Given the description of an element on the screen output the (x, y) to click on. 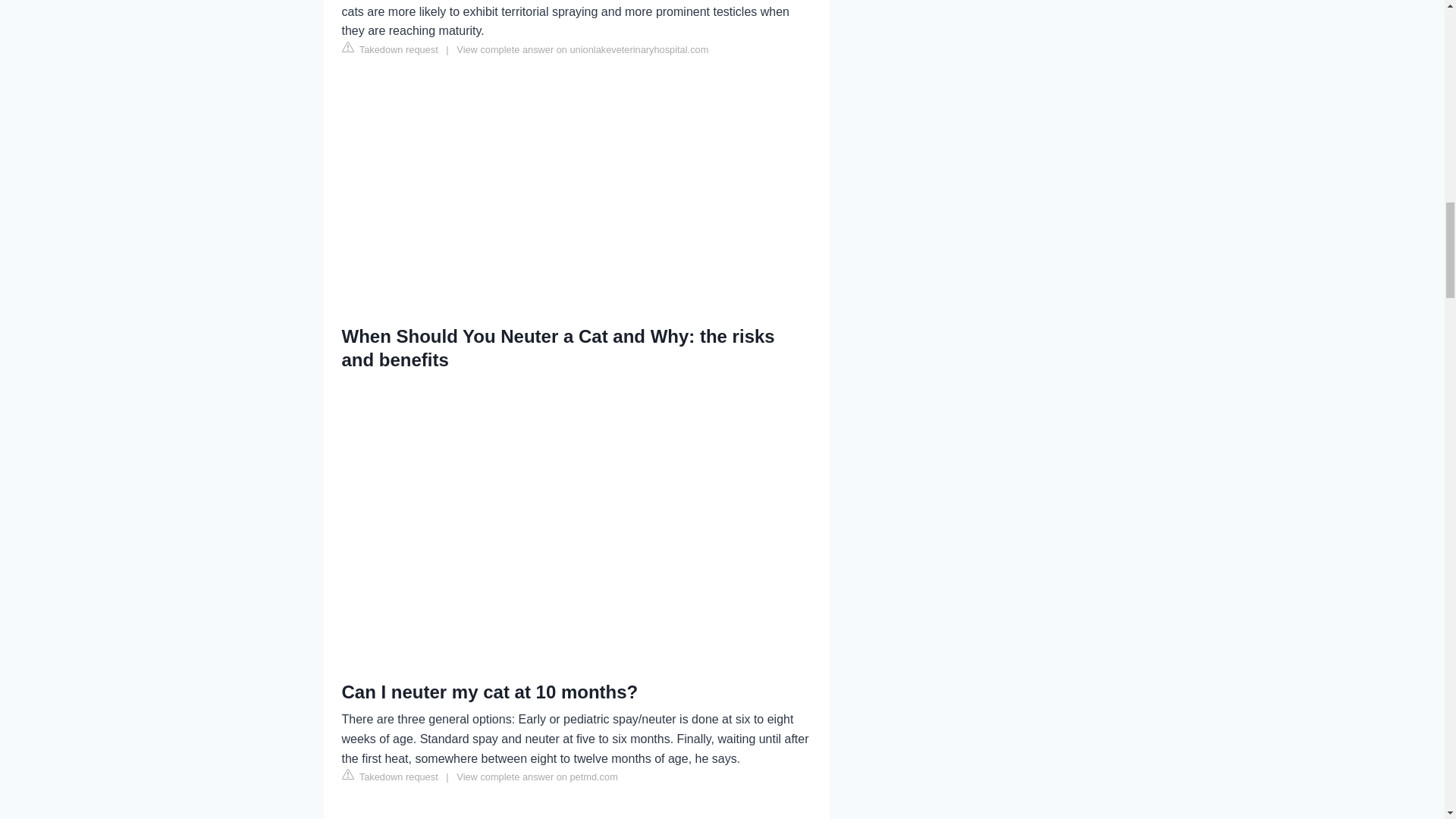
View complete answer on unionlakeveterinaryhospital.com (582, 49)
View complete answer on petmd.com (537, 776)
Takedown request (389, 48)
When Should You Neuter a Cat and Why: the risks and benefits (575, 509)
Takedown request (389, 776)
